Given the description of an element on the screen output the (x, y) to click on. 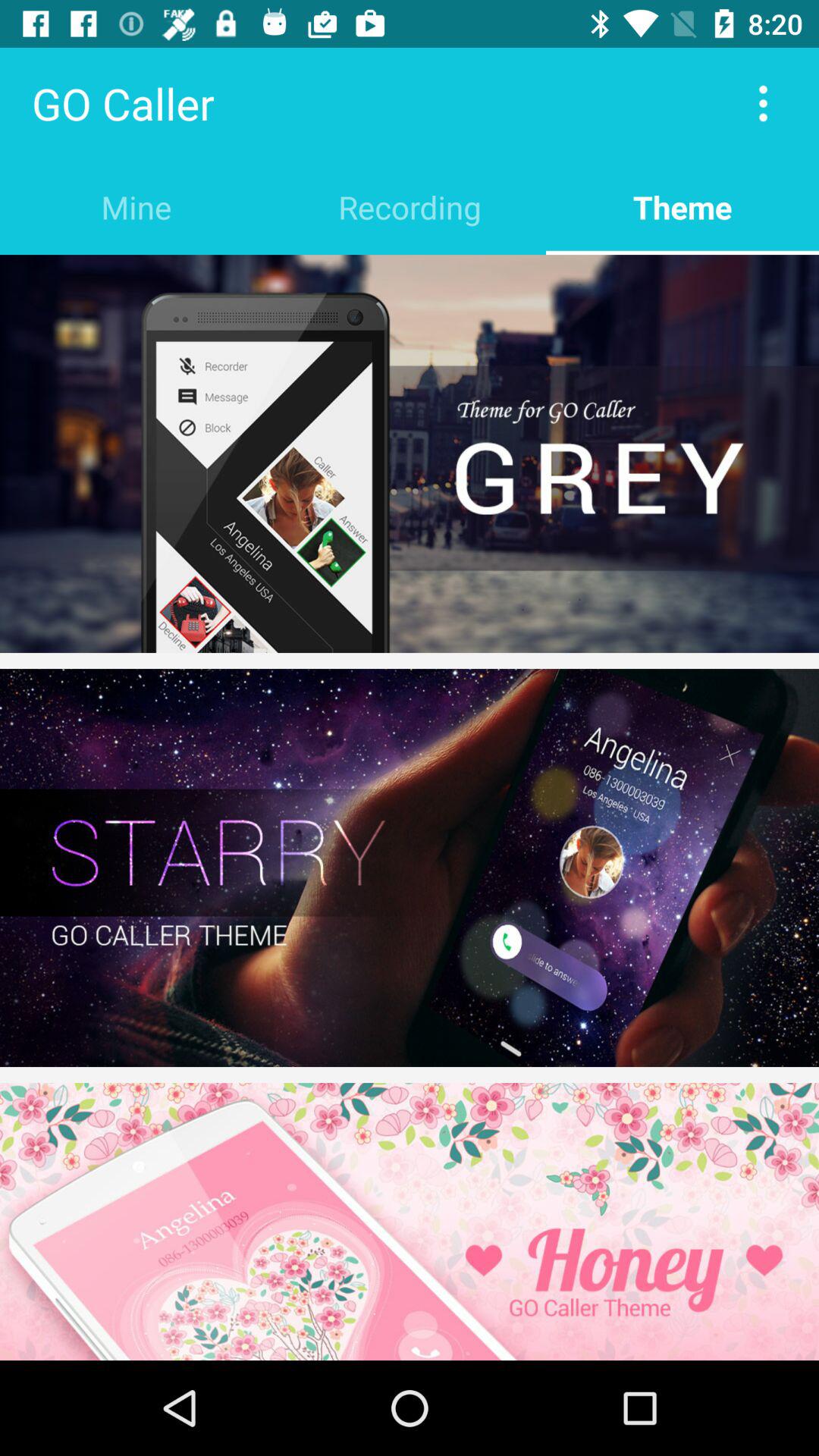
select and go to the honey theme (409, 1221)
